Given the description of an element on the screen output the (x, y) to click on. 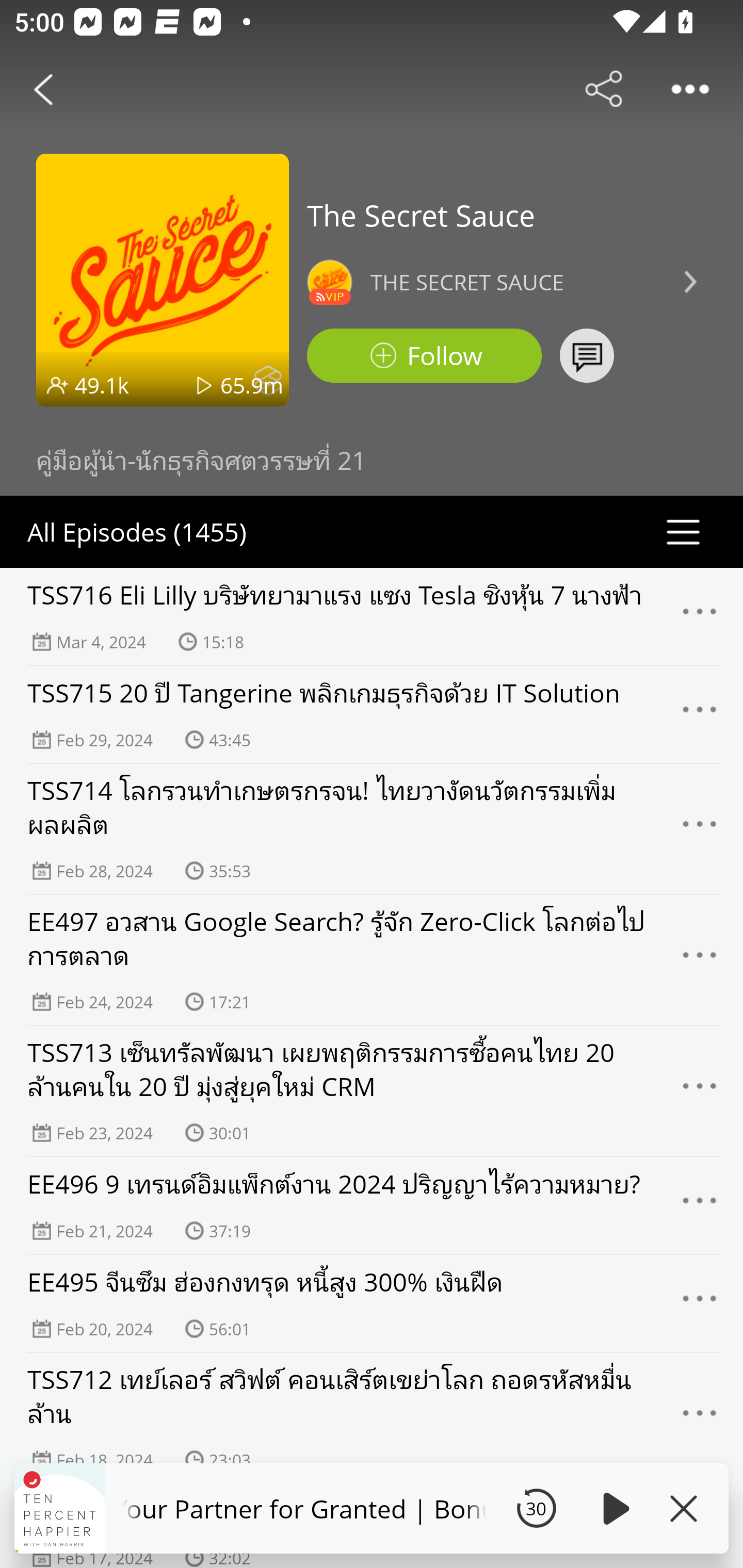
Back (43, 88)
Podbean Follow (423, 355)
49.1k (102, 384)
Menu (699, 616)
Menu (699, 714)
Menu (699, 829)
Menu (699, 960)
Menu (699, 1091)
Menu (699, 1205)
Menu (699, 1303)
Menu (699, 1418)
Play (613, 1507)
30 Seek Backward (536, 1508)
